Given the description of an element on the screen output the (x, y) to click on. 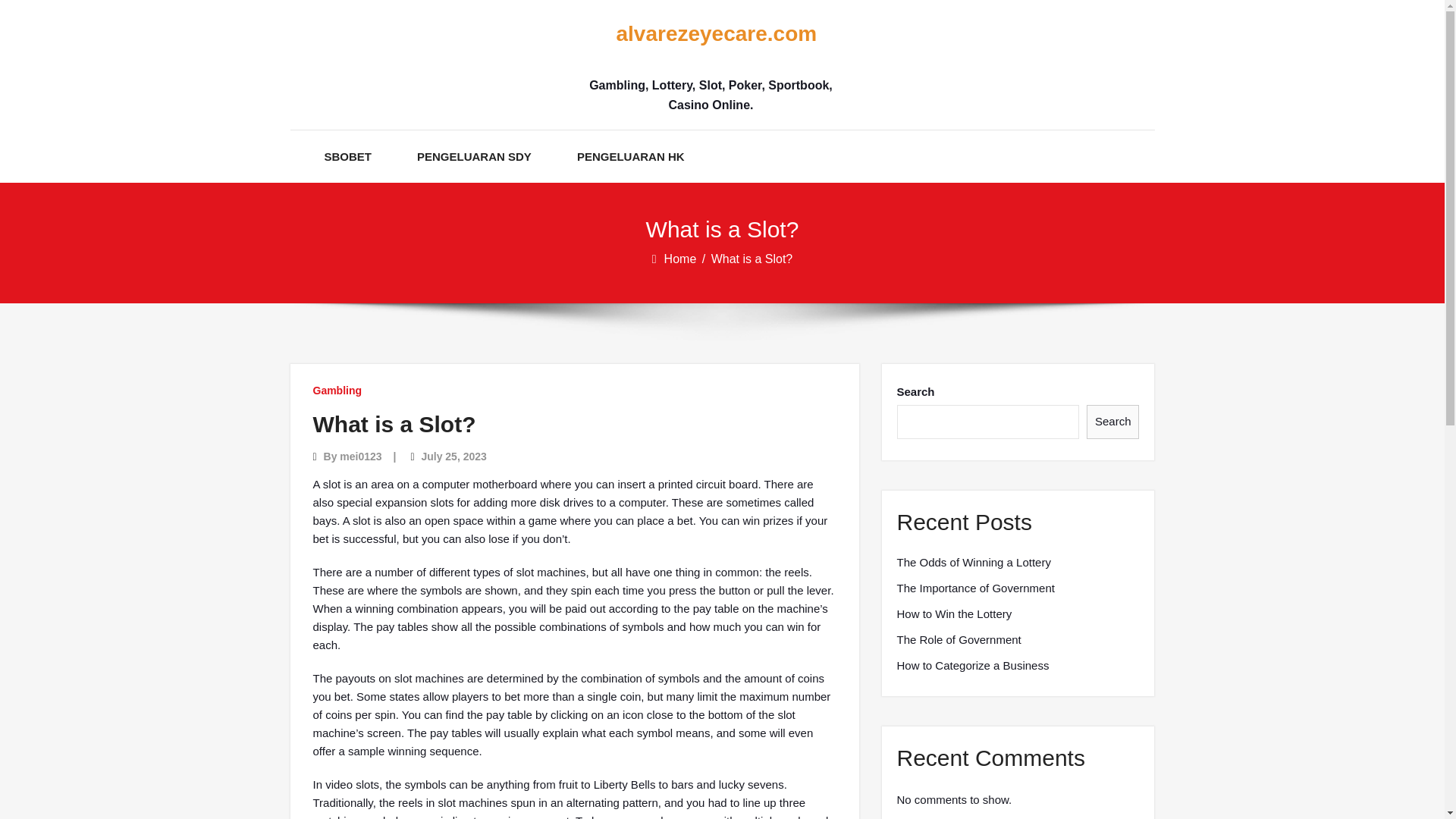
The Odds of Winning a Lottery (972, 562)
alvarezeyecare.com (710, 34)
July 25, 2023 (453, 456)
Home (680, 258)
SBOBET (348, 156)
Gambling (337, 390)
PENGELUARAN SDY (473, 156)
How to Categorize a Business (972, 665)
PENGELUARAN HK (630, 156)
mei0123 (360, 456)
Search (1113, 421)
The Importance of Government (975, 588)
The Role of Government (958, 639)
How to Win the Lottery (953, 614)
